Given the description of an element on the screen output the (x, y) to click on. 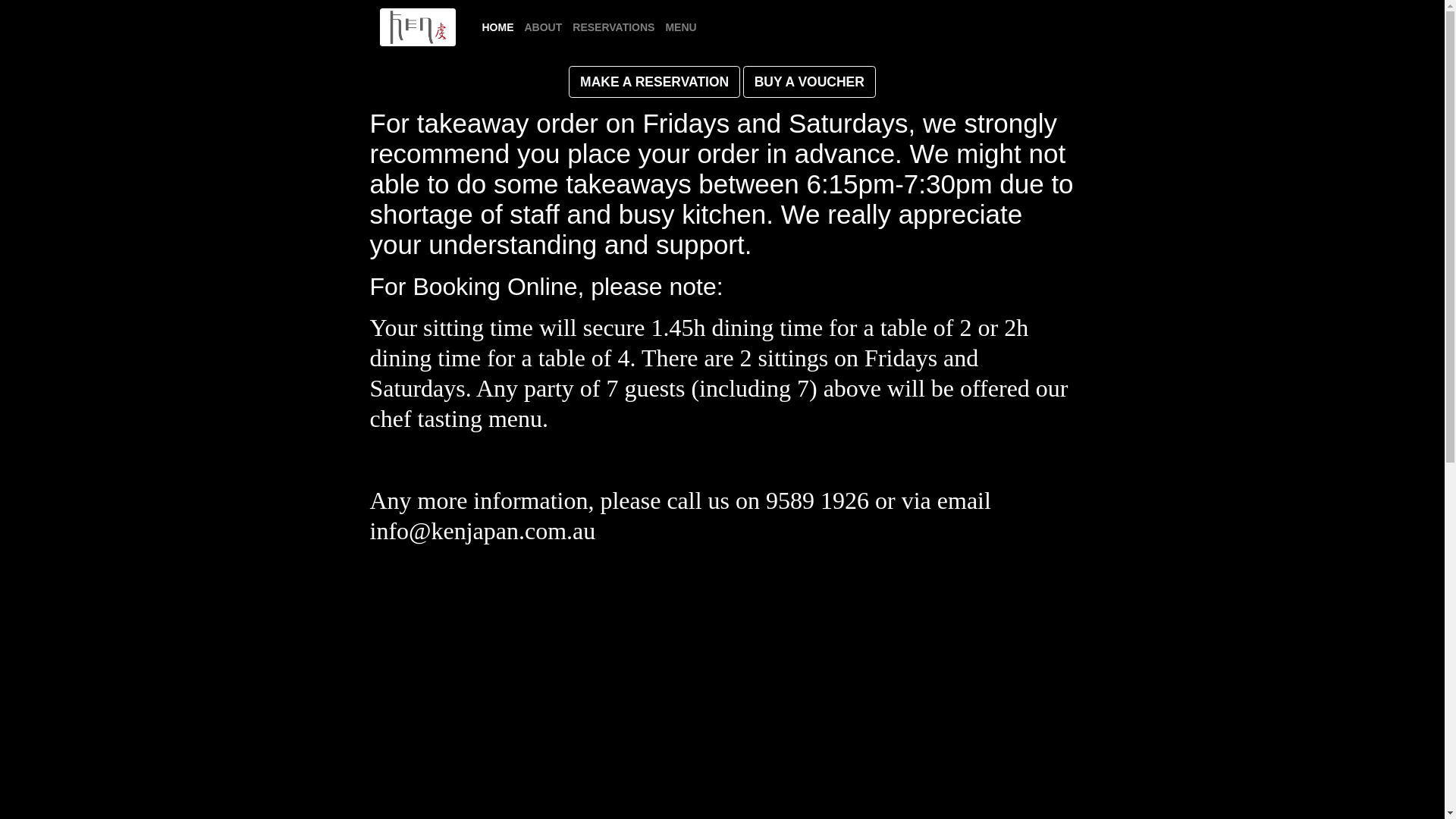
MAKE A RESERVATION Element type: text (654, 81)
HOME
(current) Element type: text (497, 27)
MENU Element type: text (680, 27)
BUY A VOUCHER Element type: text (809, 81)
RESERVATIONS Element type: text (613, 27)
ABOUT Element type: text (542, 27)
